Given the description of an element on the screen output the (x, y) to click on. 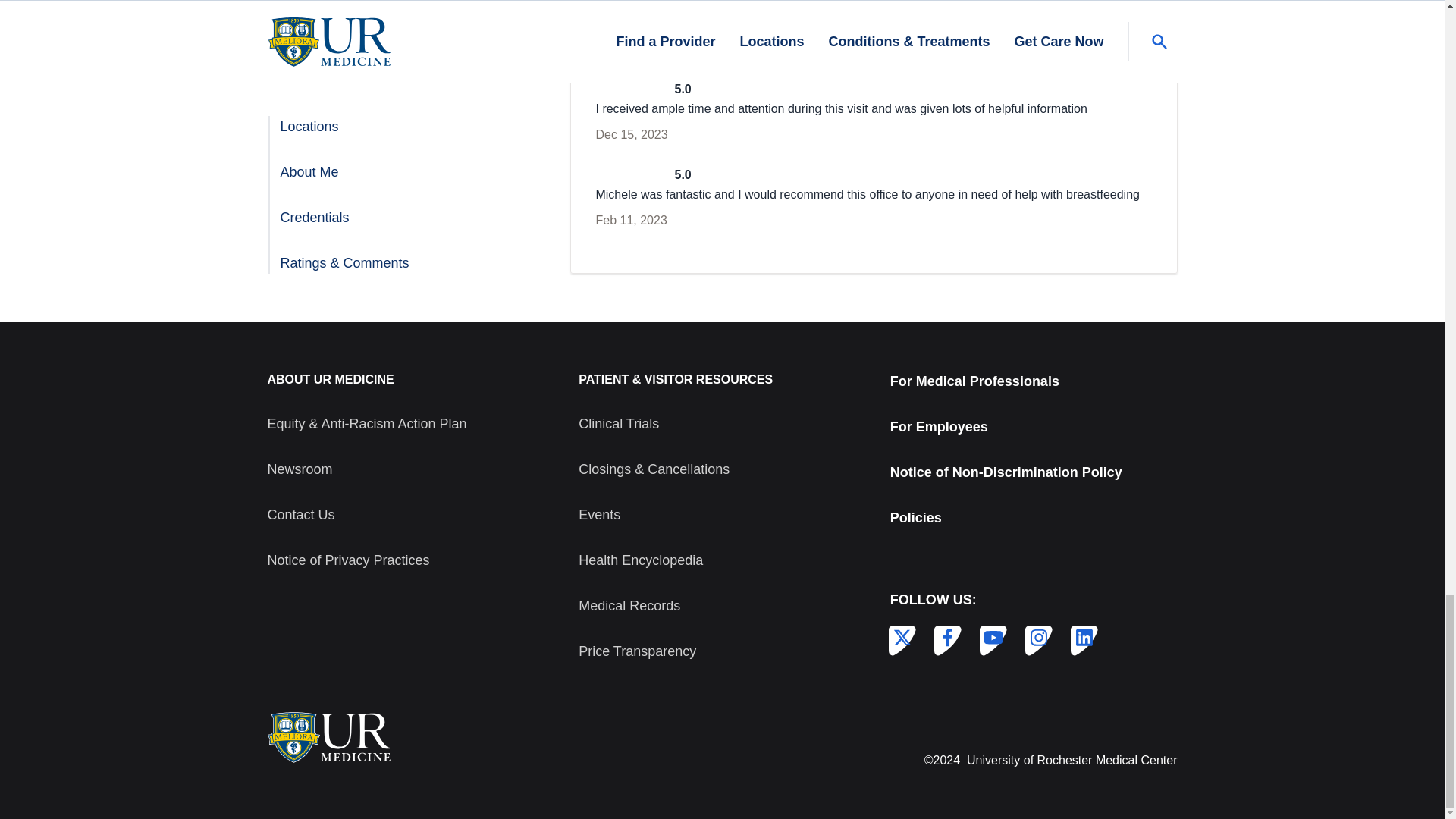
UR Medicine Logo (328, 737)
UR Medicine on X (898, 637)
UR Medicine on Instagram (1035, 637)
UR Medicine on Facebook (944, 637)
UR Medicine on YouTube (990, 637)
UR Medicine on LinkedIn (1080, 637)
